Given the description of an element on the screen output the (x, y) to click on. 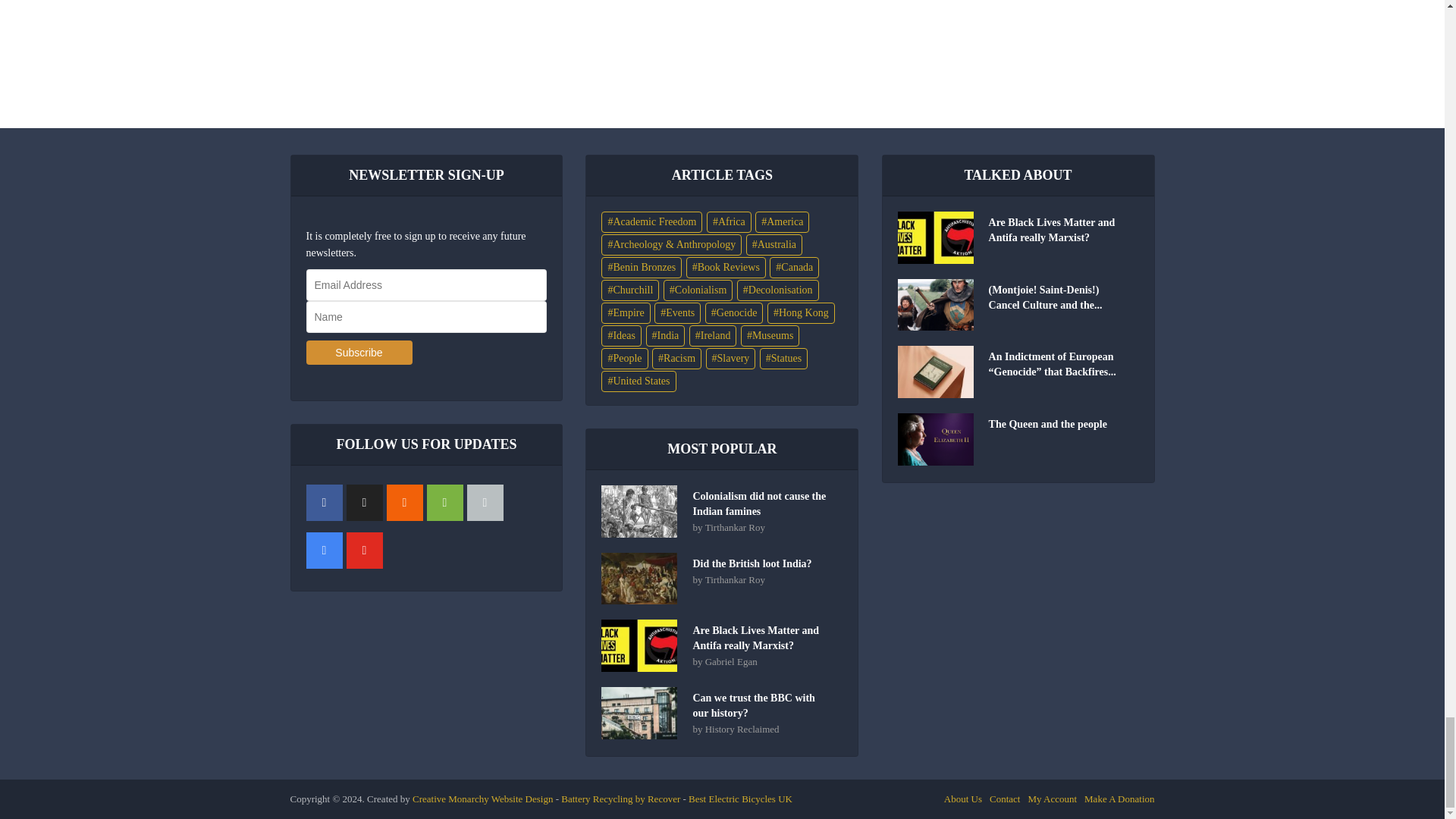
Subscribe (358, 352)
